Given the description of an element on the screen output the (x, y) to click on. 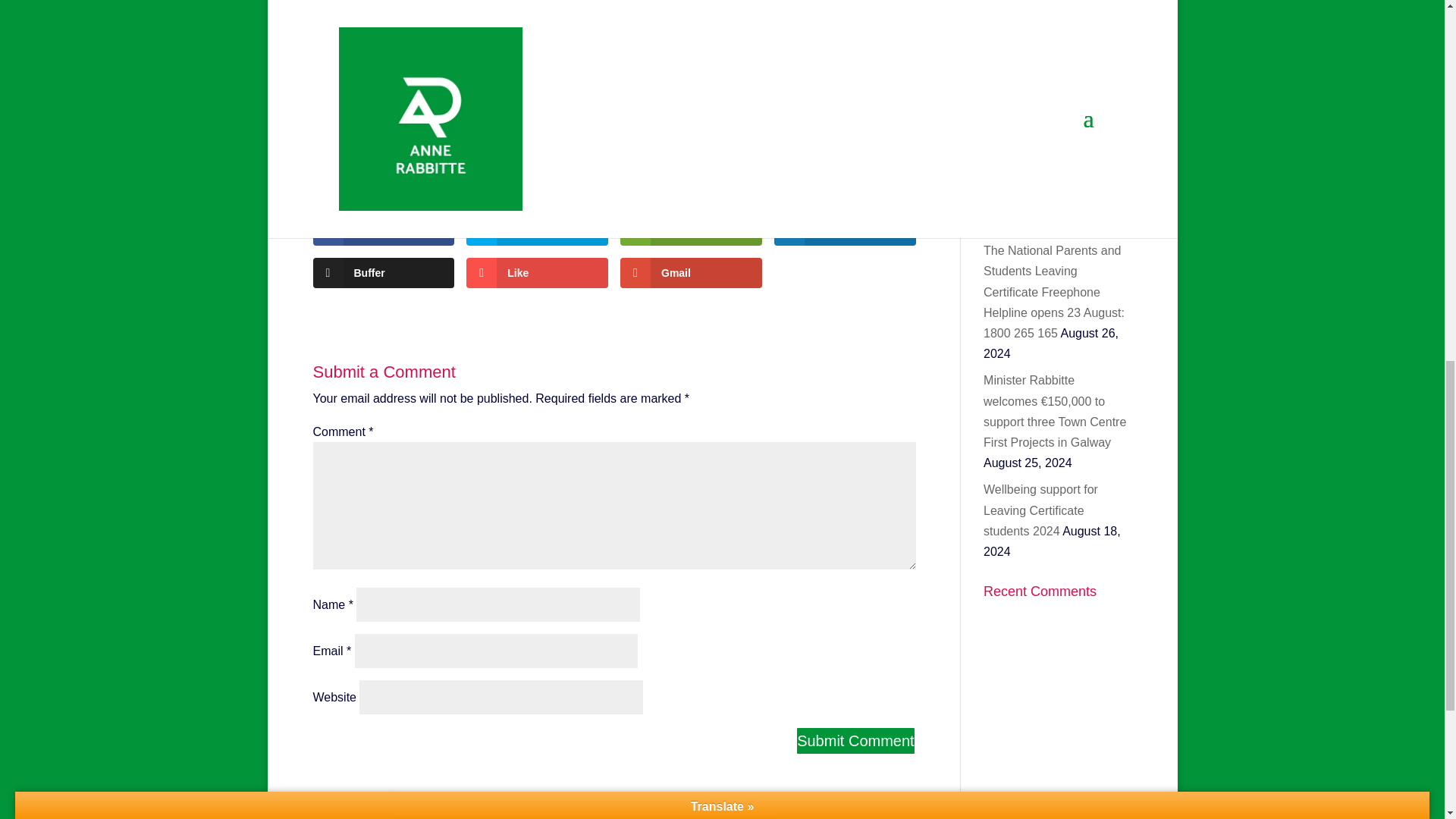
linkedin (844, 230)
Twitter 1829472122625724729 (1060, 54)
Like (536, 272)
Anne Rabbitte TD Retweeted (1063, 124)
facebook (1080, 10)
Buffer (383, 230)
Learn how your comment data is processed (383, 272)
Reply on Twitter 1829472122625724729 (1063, 33)
